Given the description of an element on the screen output the (x, y) to click on. 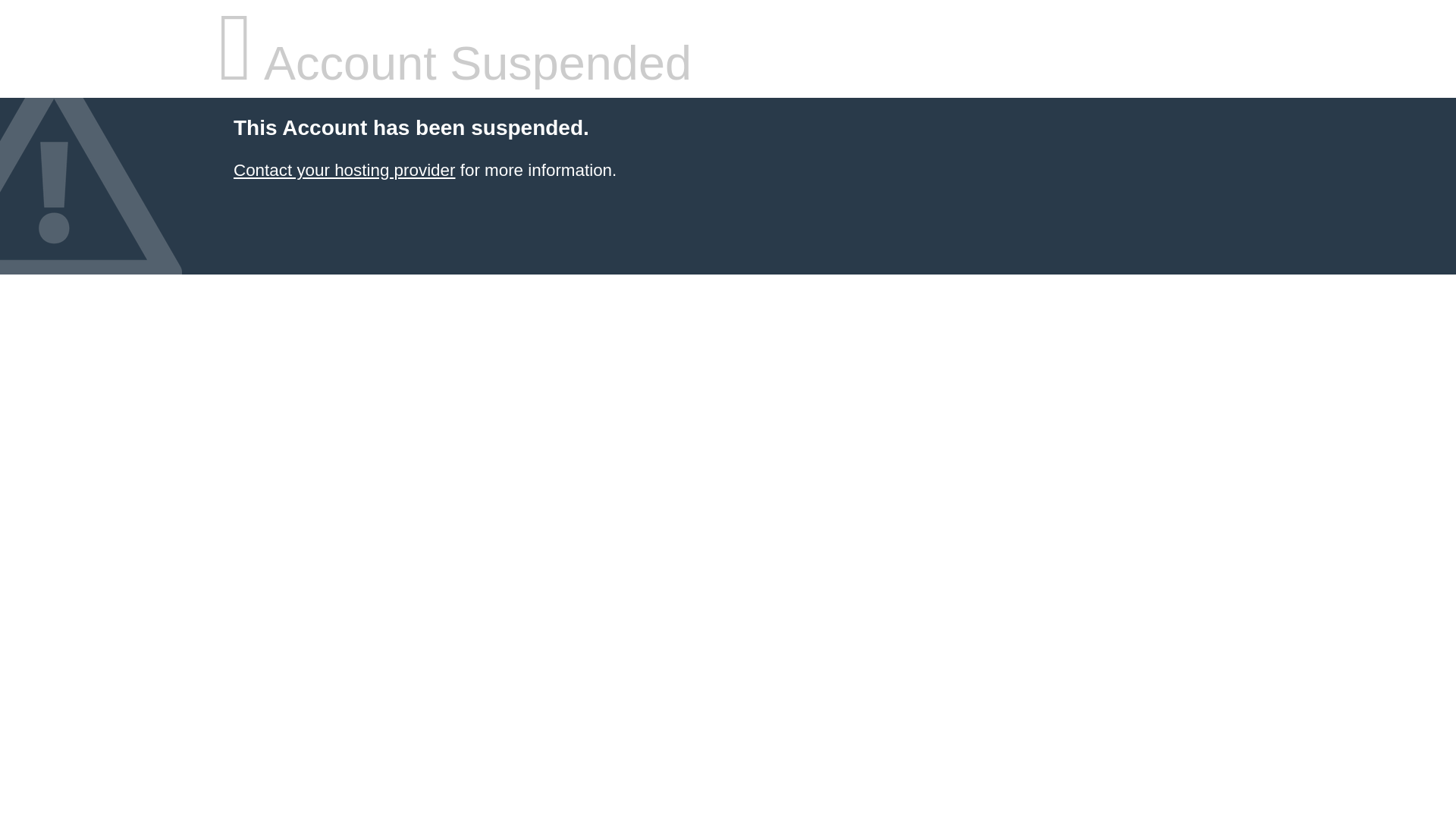
Contact your hosting provider (343, 169)
